Given the description of an element on the screen output the (x, y) to click on. 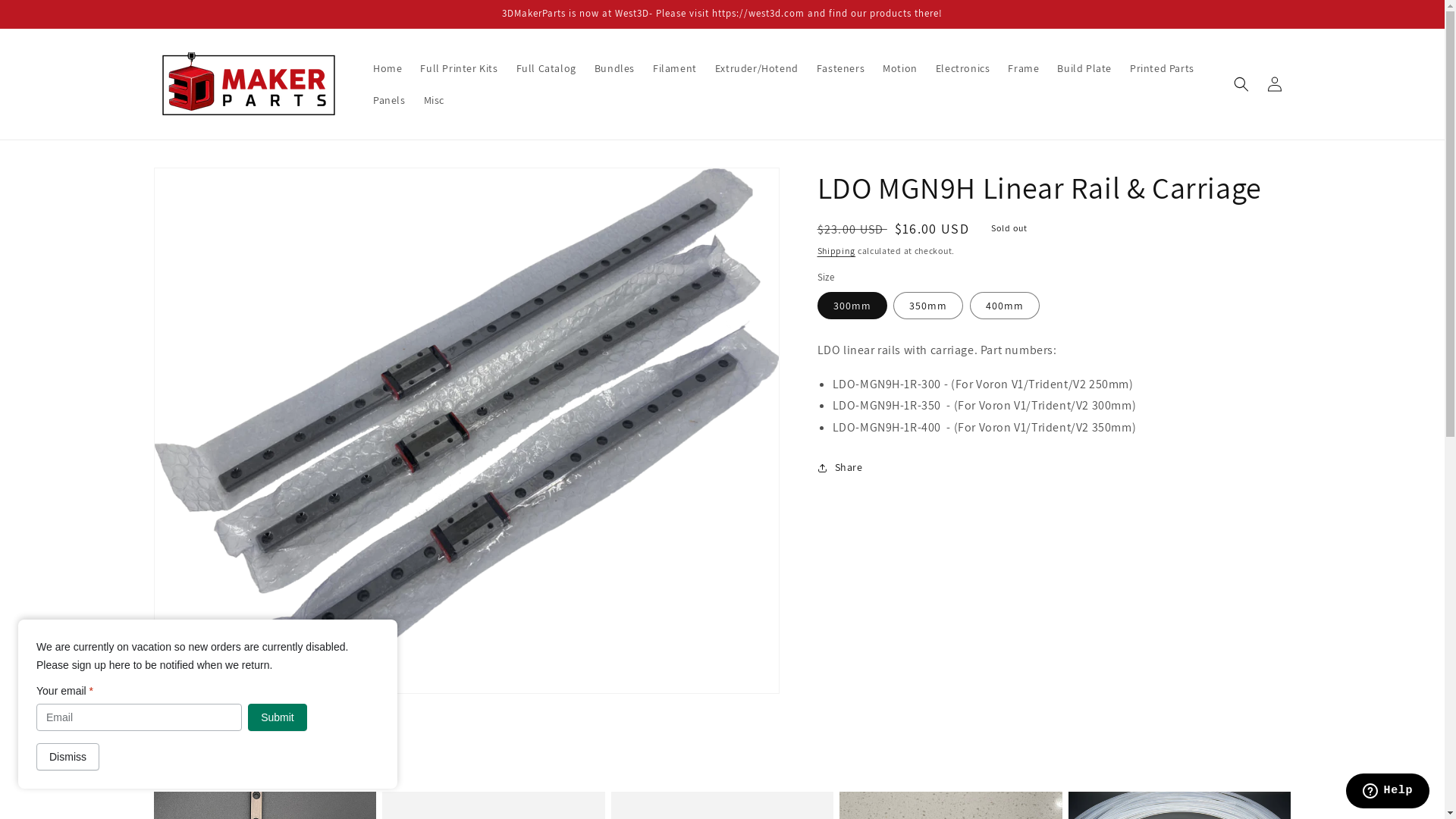
Log in Element type: text (1273, 83)
Fasteners Element type: text (840, 68)
Full Printer Kits Element type: text (458, 68)
Skip to product information Element type: text (199, 184)
Bundles Element type: text (614, 68)
Frame Element type: text (1023, 68)
Misc Element type: text (433, 100)
Full Catalog Element type: text (546, 68)
Motion Element type: text (899, 68)
Shipping Element type: text (836, 250)
Panels Element type: text (389, 100)
Printed Parts Element type: text (1161, 68)
Submit Element type: text (277, 717)
Extruder/Hotend Element type: text (756, 68)
Filament Element type: text (674, 68)
Electronics Element type: text (962, 68)
Opens a widget where you can find more information Element type: hover (1387, 792)
Home Element type: text (387, 68)
Dismiss Element type: text (67, 756)
Build Plate Element type: text (1084, 68)
